Given the description of an element on the screen output the (x, y) to click on. 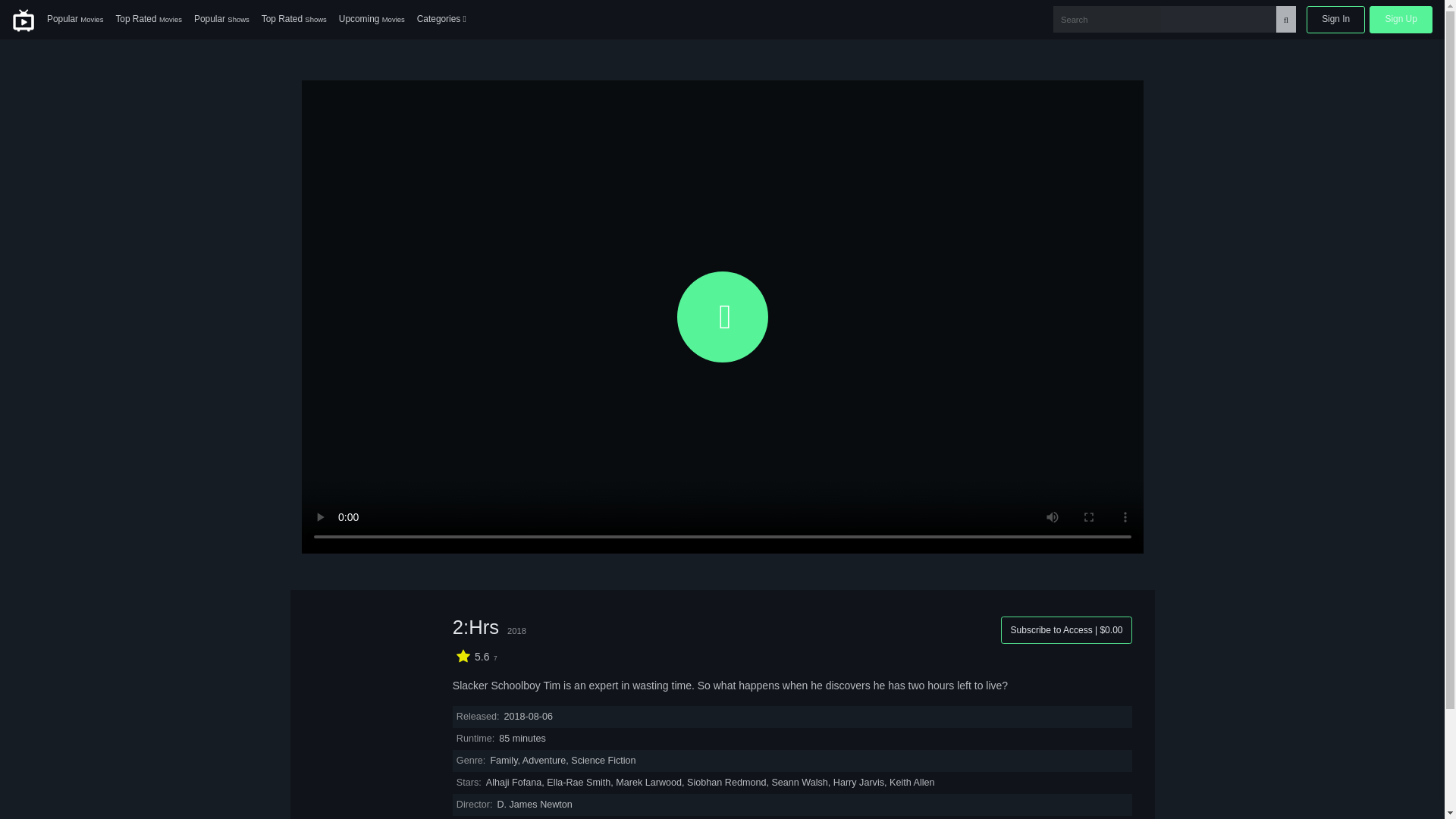
Top Rated Shows (294, 19)
Popular Movies (74, 19)
Popular Shows (221, 19)
Upcoming Movies (371, 19)
Categories (440, 19)
Top Rated Movies (148, 19)
